Given the description of an element on the screen output the (x, y) to click on. 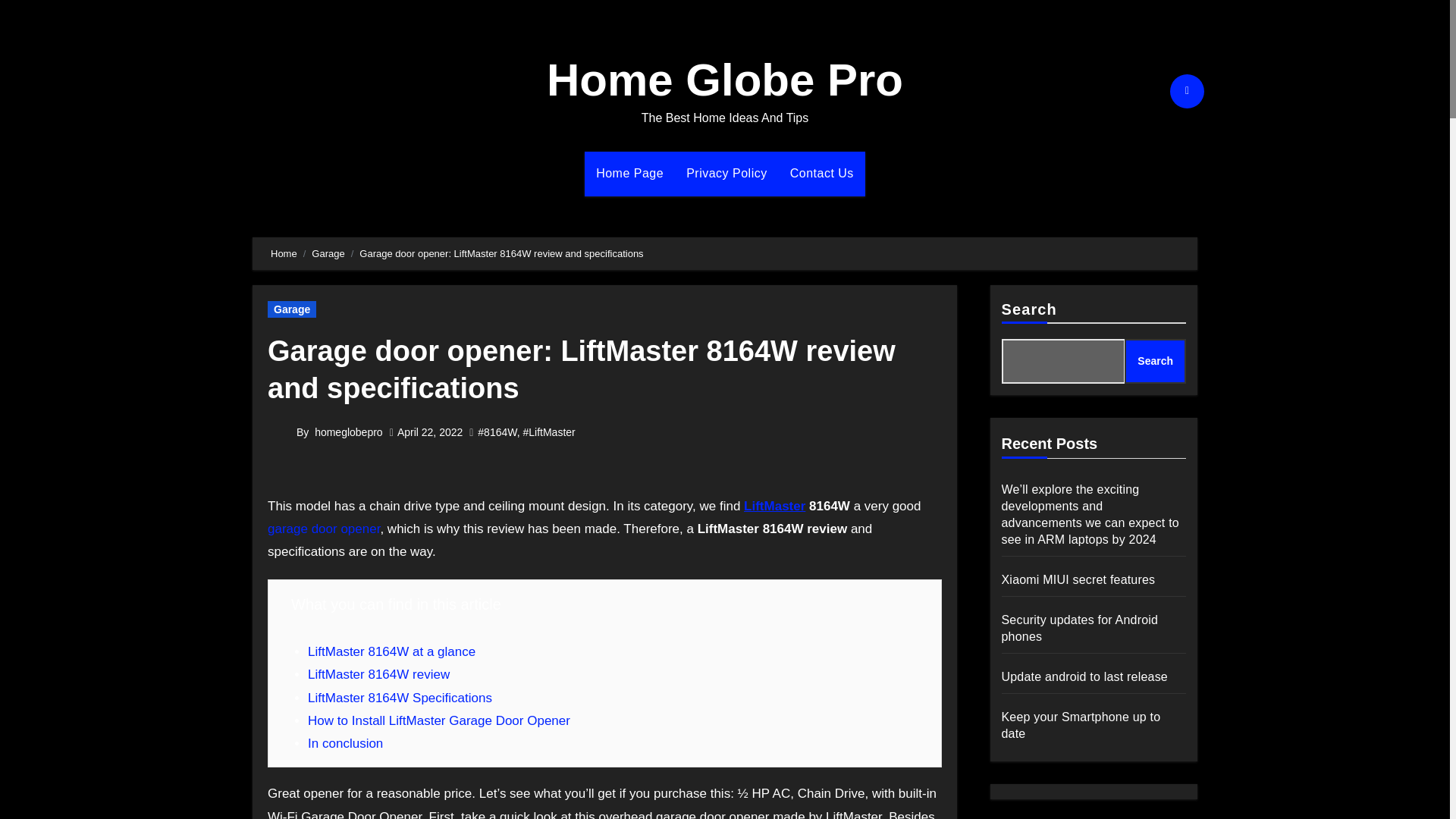
Home Page (630, 173)
Contact Us (821, 173)
Garage (291, 309)
Home Page (630, 173)
In conclusion (344, 743)
Contact Us (821, 173)
garage door opener (323, 528)
Privacy Policy (726, 173)
Privacy Policy (726, 173)
